Given the description of an element on the screen output the (x, y) to click on. 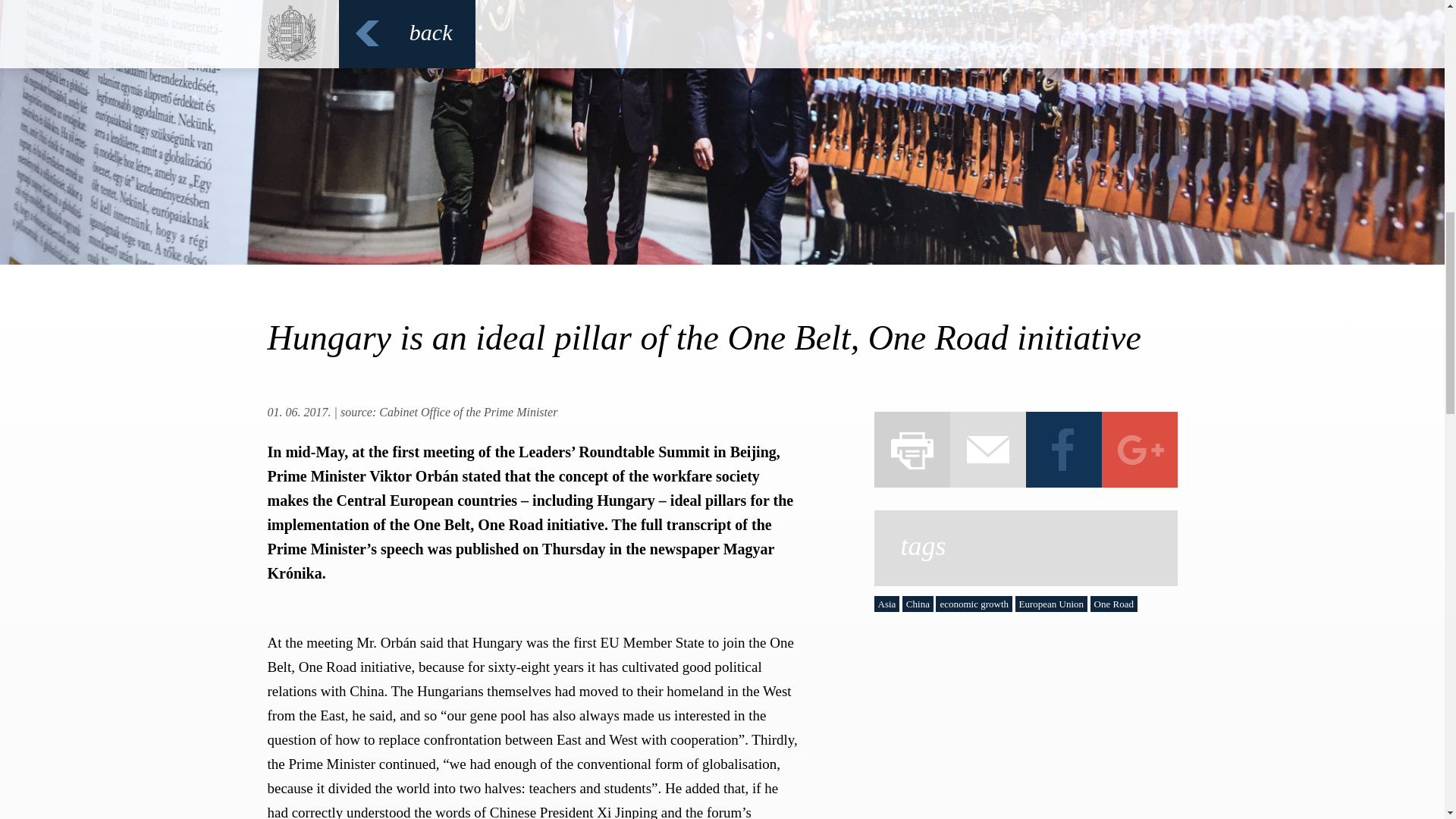
One Road (1113, 603)
European Union (1050, 603)
Asia (886, 603)
China (917, 603)
economic growth (973, 603)
